Given the description of an element on the screen output the (x, y) to click on. 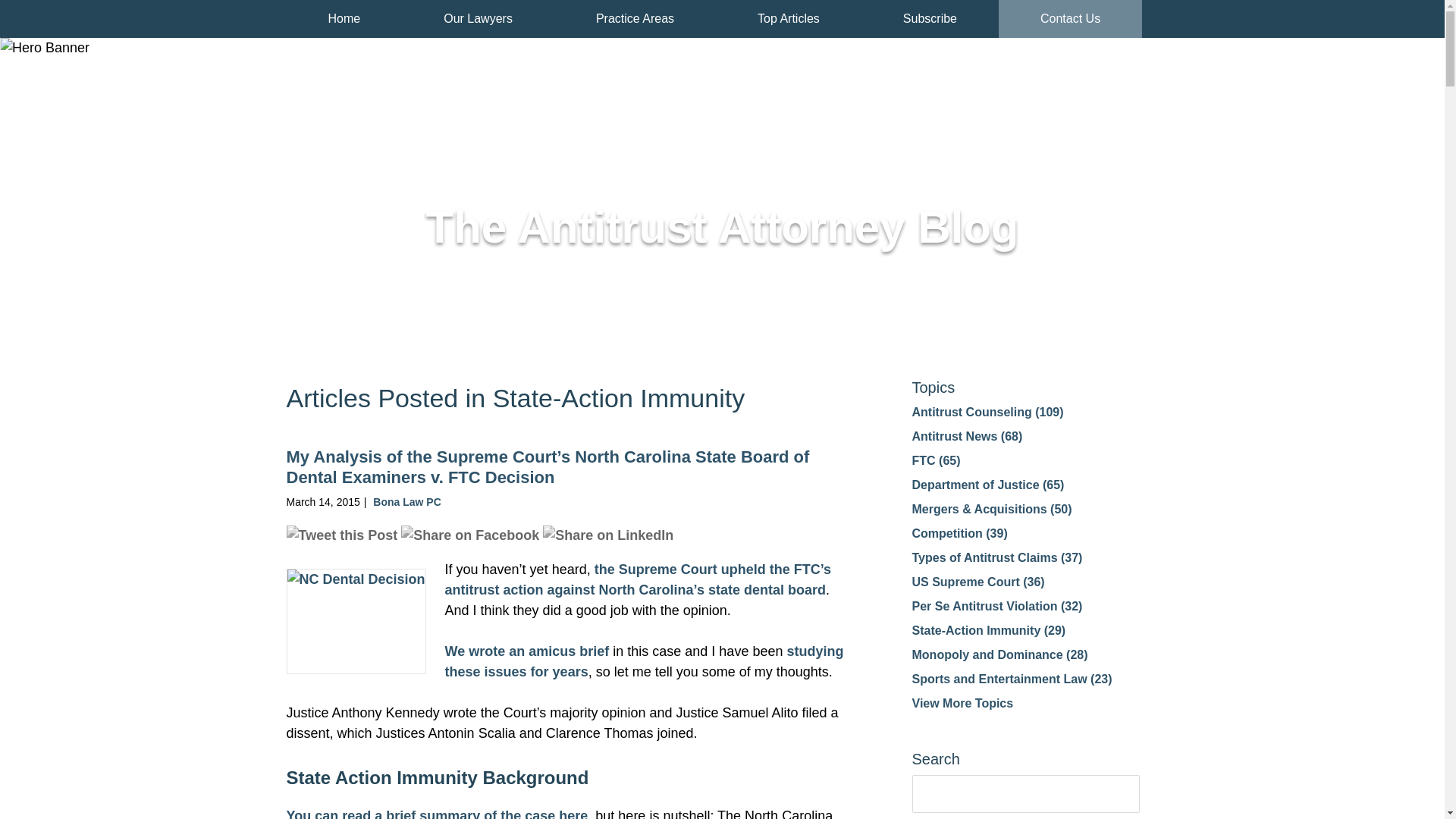
Our Lawyers (477, 18)
Contact Us (1069, 18)
Home (344, 18)
Subscribe (929, 18)
Top Articles (788, 18)
Practice Areas (635, 18)
The Antitrust Attorney Blog (405, 75)
